Given the description of an element on the screen output the (x, y) to click on. 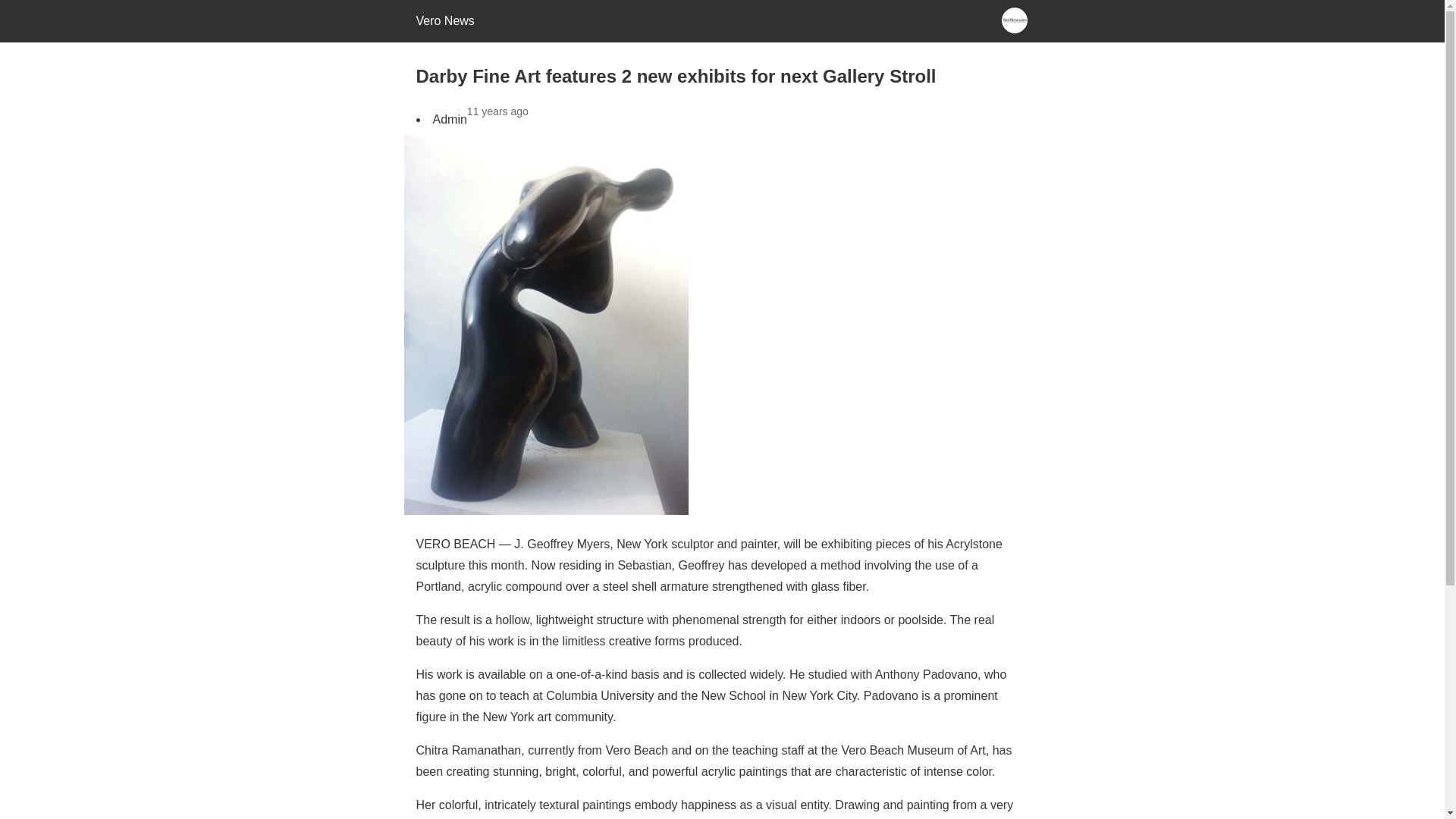
Vero News (444, 20)
